Given the description of an element on the screen output the (x, y) to click on. 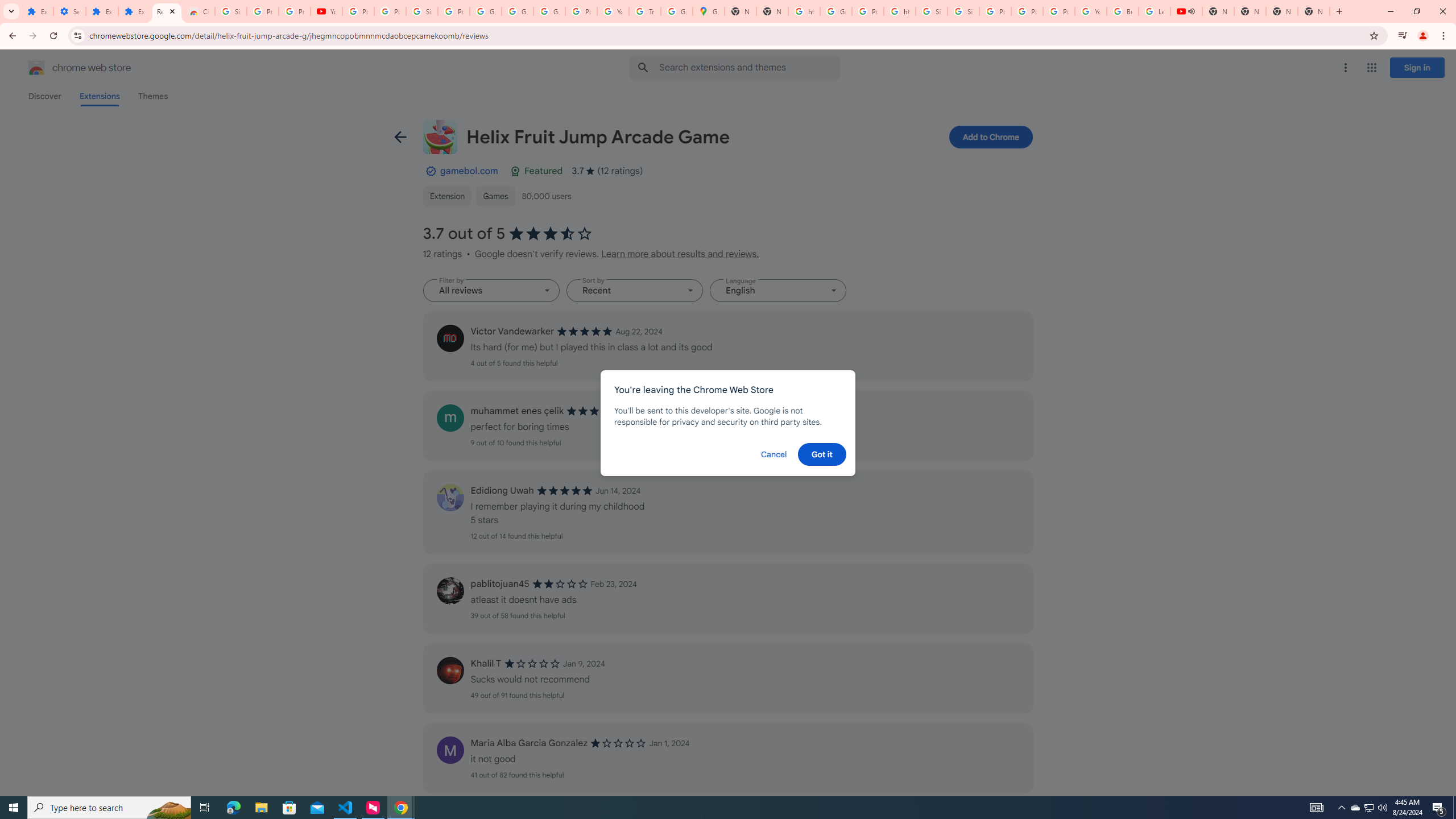
Google Account (517, 11)
Sign in - Google Accounts (931, 11)
Chrome Web Store - Themes (198, 11)
